Given the description of an element on the screen output the (x, y) to click on. 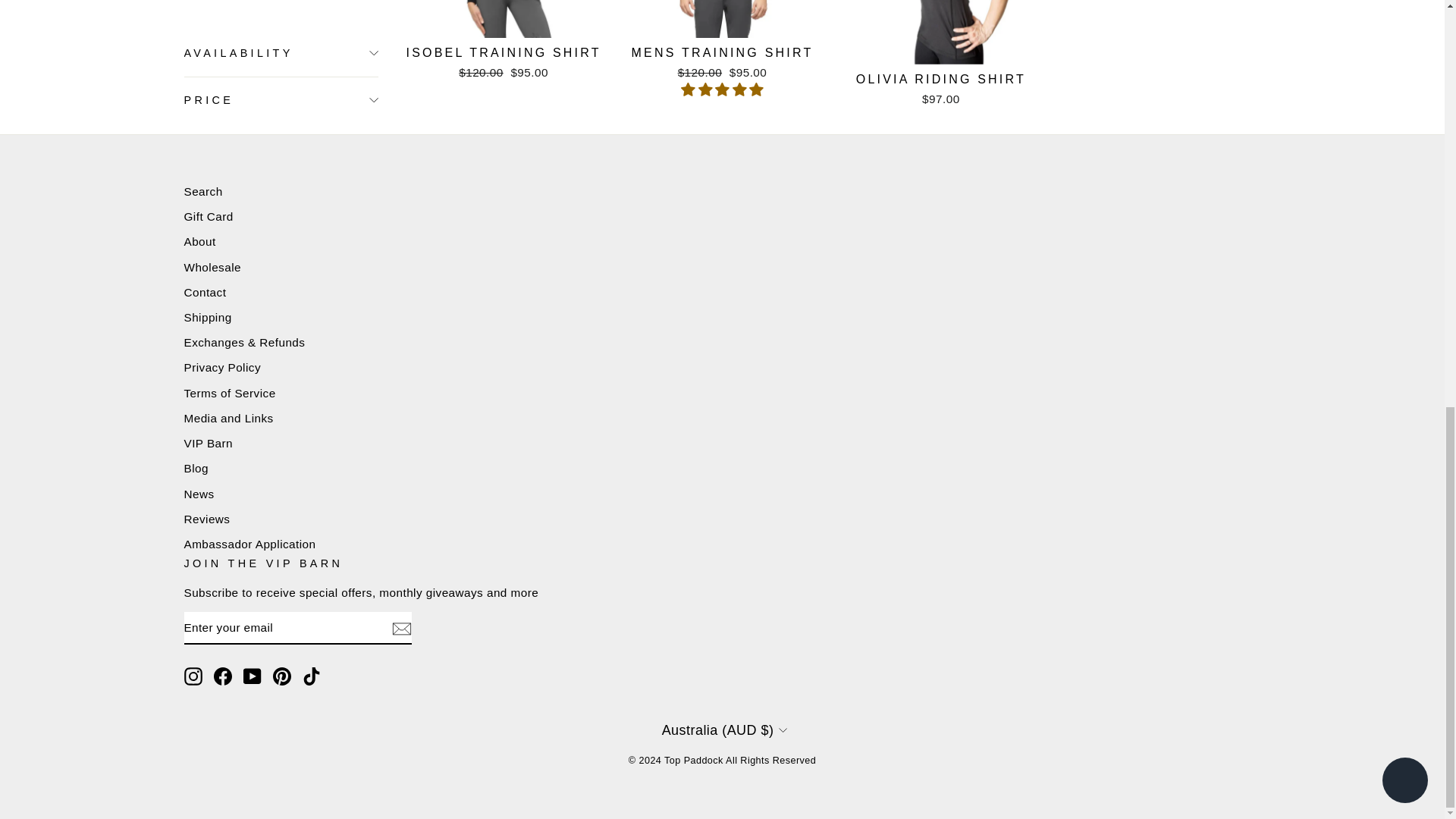
Top Paddock on Instagram (192, 676)
Top Paddock on Pinterest (282, 676)
Top Paddock on TikTok (310, 676)
Top Paddock on YouTube (251, 676)
Top Paddock on Facebook (222, 676)
instagram (192, 676)
icon-email (400, 628)
